Given the description of an element on the screen output the (x, y) to click on. 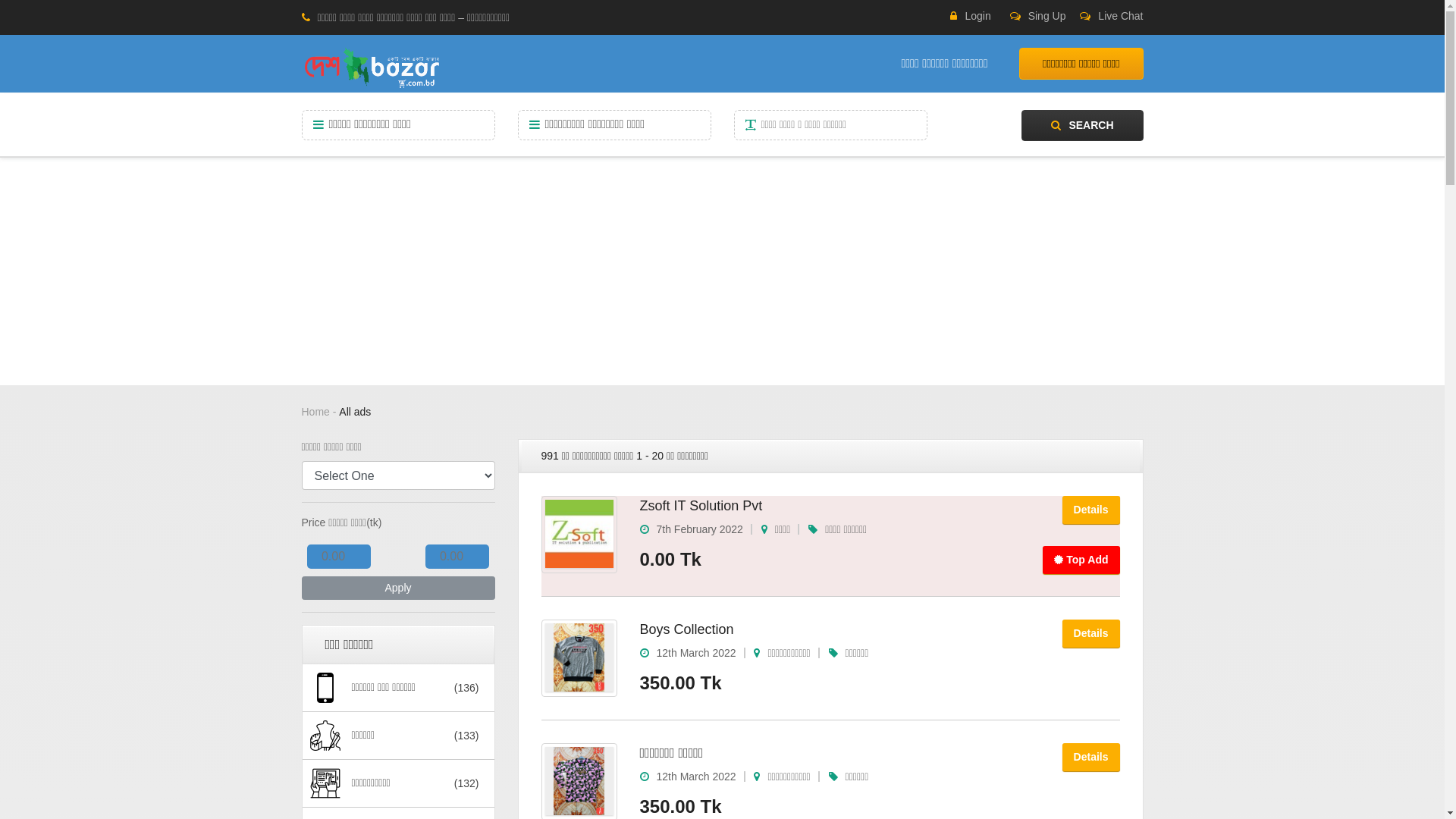
Details Element type: text (1091, 633)
Sing Up Element type: text (1038, 16)
Home Element type: text (315, 411)
Advertisement Element type: hover (721, 271)
Login Element type: text (969, 16)
SEARCH Element type: text (1081, 125)
Boys Collection Element type: text (687, 629)
Apply Element type: text (398, 587)
Details Element type: text (1091, 757)
Top Add Element type: text (1080, 560)
Live Chat Element type: text (1110, 16)
Details Element type: text (1091, 509)
Zsoft IT Solution Pvt Element type: text (701, 505)
